Given the description of an element on the screen output the (x, y) to click on. 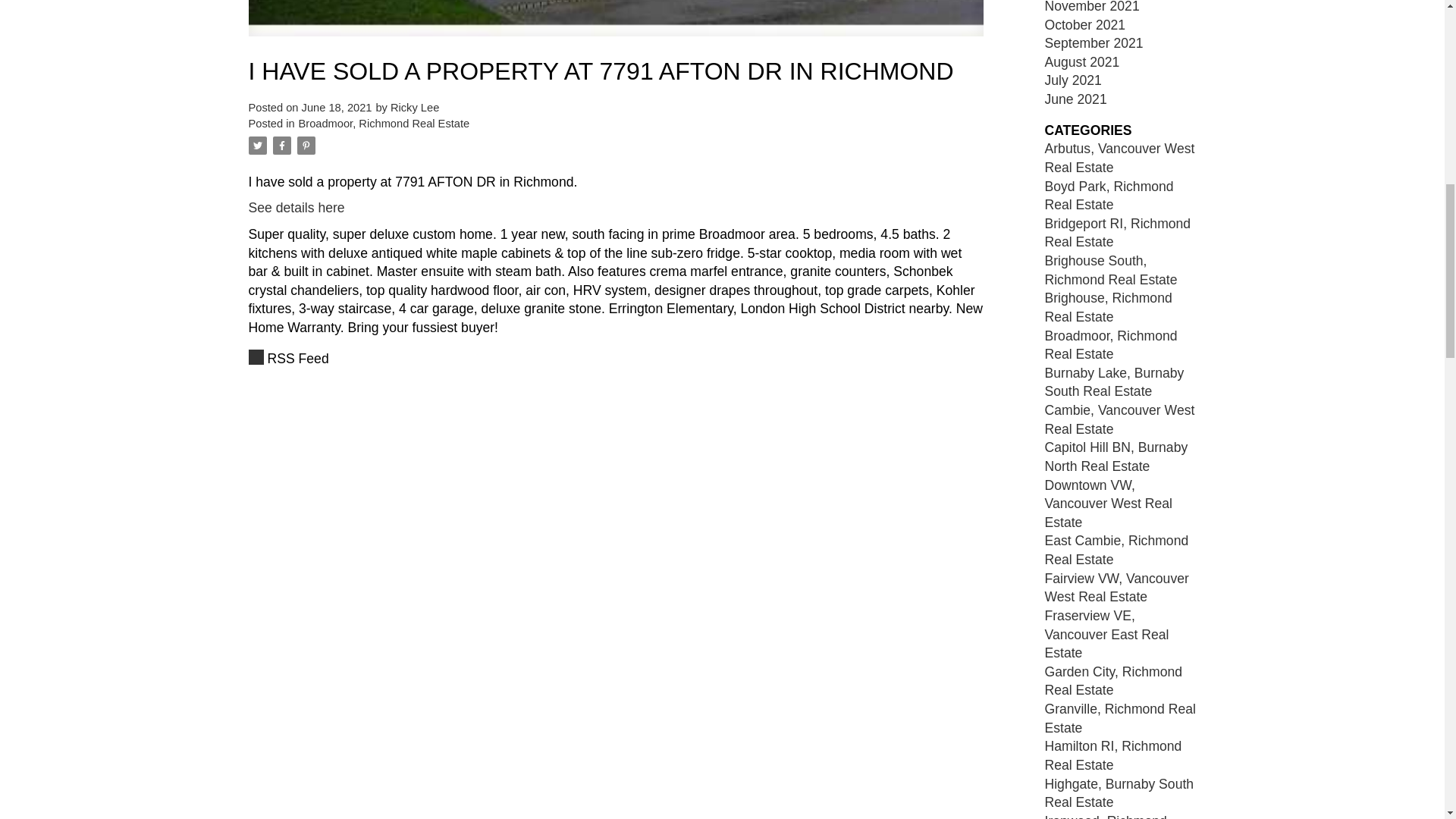
Broadmoor, Richmond Real Estate (384, 123)
RSS (616, 358)
See details here (296, 207)
